Given the description of an element on the screen output the (x, y) to click on. 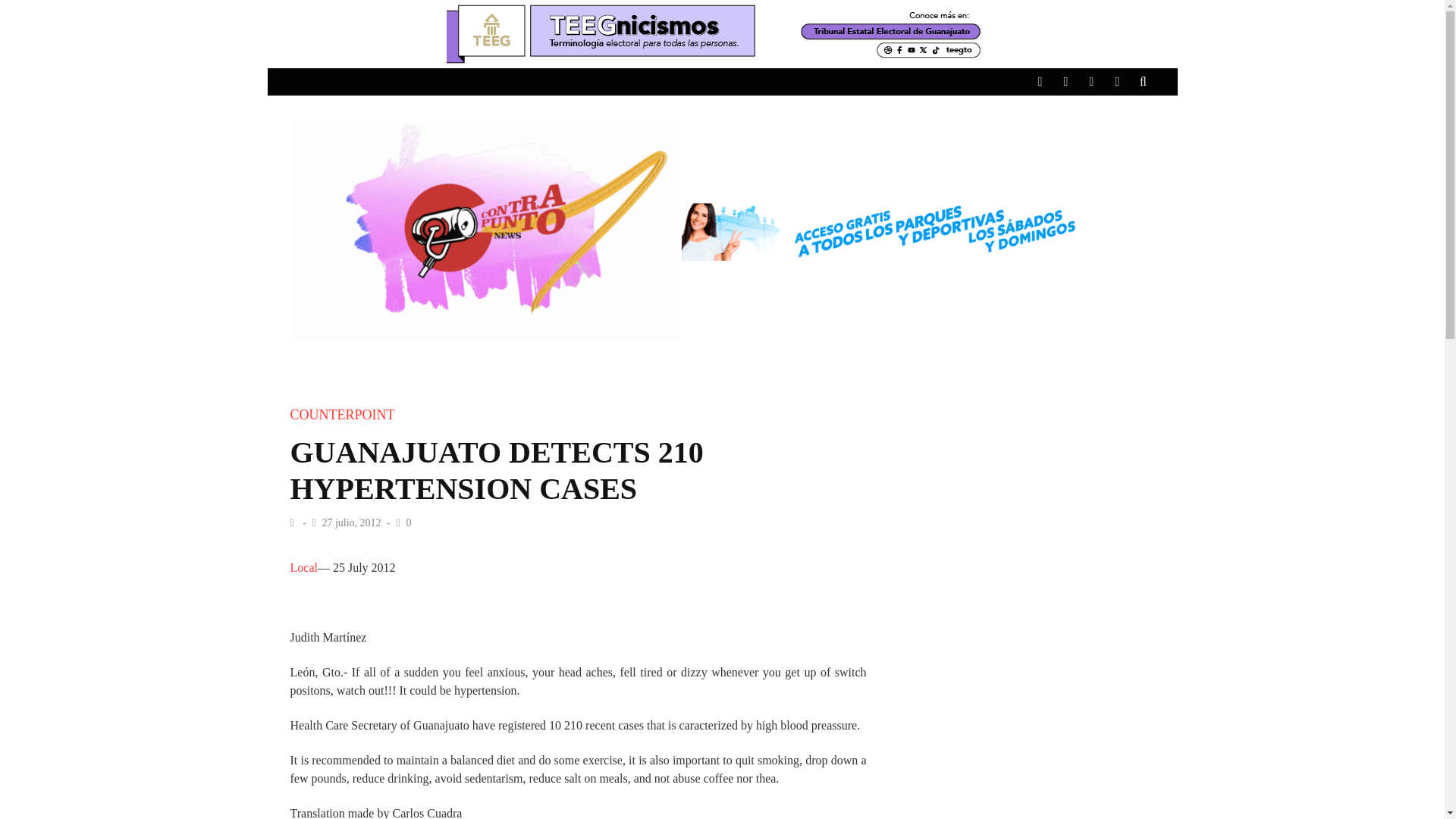
Local (303, 567)
27 julio, 2012 (352, 522)
COUNTERPOINT (341, 414)
View all posts in Local (303, 567)
